Given the description of an element on the screen output the (x, y) to click on. 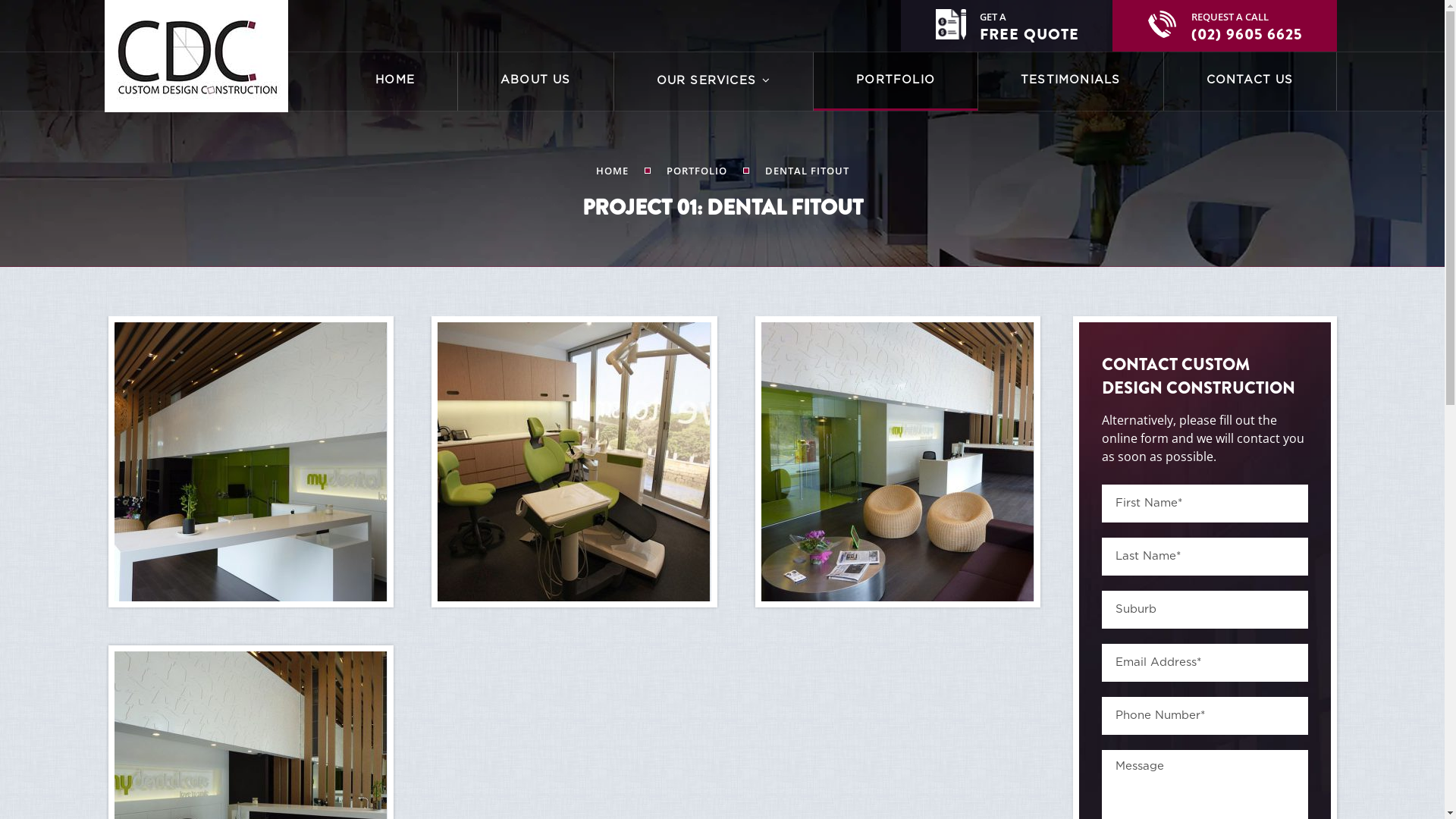
Dental Fitout Element type: hover (898, 461)
Dental Fitout Element type: hover (574, 461)
GET A
FREE QUOTE Element type: text (1006, 25)
PORTFOLIO Element type: text (895, 81)
PORTFOLIO Element type: text (695, 170)
CONTACT US Element type: text (1249, 81)
ABOUT US Element type: text (535, 81)
HOME Element type: text (612, 170)
HOME Element type: text (394, 81)
REQUEST A CALL
(02) 9605 6625 Element type: text (1224, 25)
Dental Fitout Element type: hover (250, 461)
TESTIMONIALS Element type: text (1070, 81)
OUR SERVICES Element type: text (713, 81)
